Given the description of an element on the screen output the (x, y) to click on. 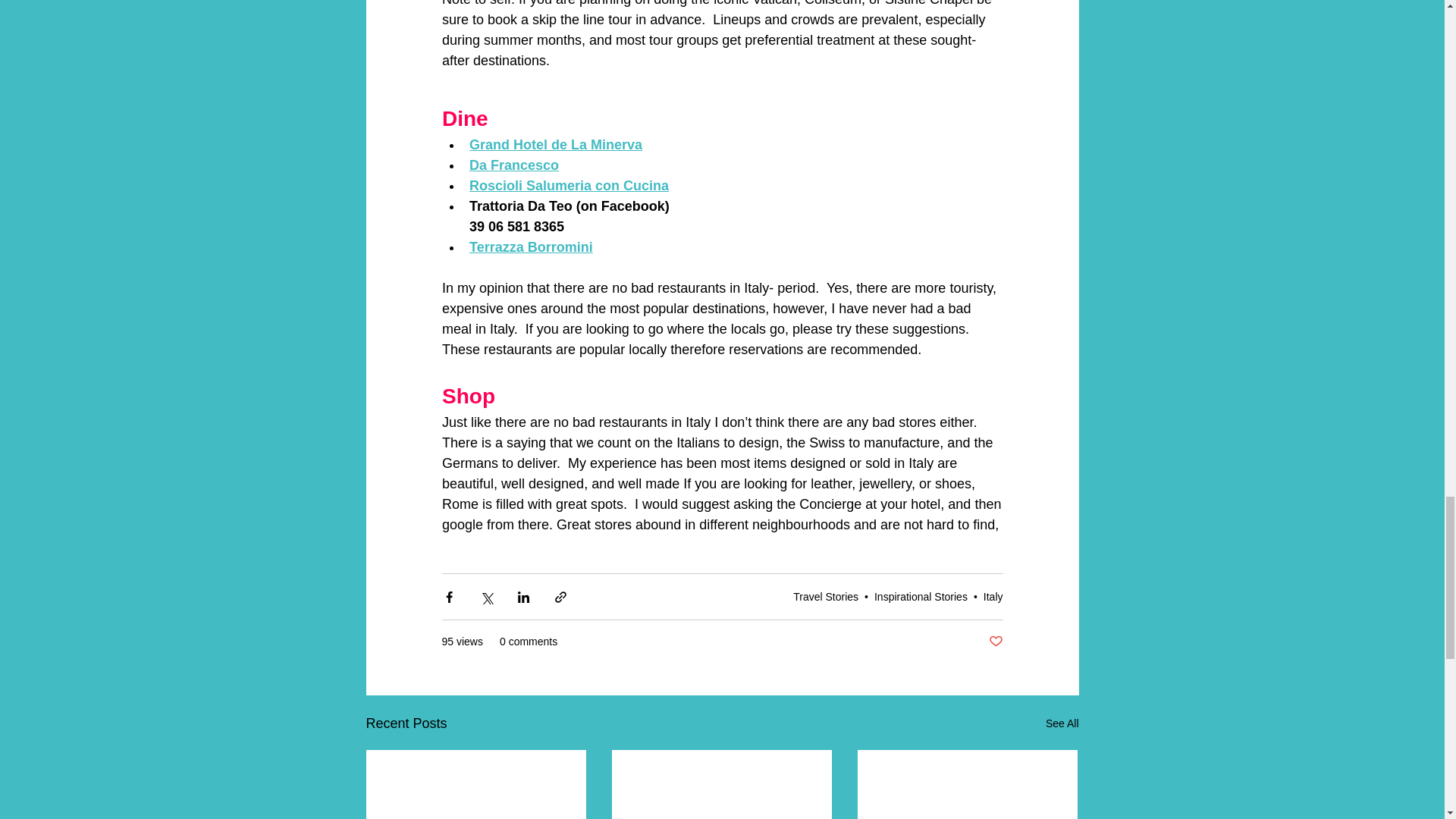
Inspirational Stories (921, 595)
Grand Hotel de La Minerva (555, 144)
Roscioli Salumeria con Cucina (568, 185)
Terrazza Borromini (530, 246)
Italy (993, 595)
Da Francesco (512, 165)
See All (1061, 723)
Travel Stories (826, 595)
Post not marked as liked (995, 641)
